Given the description of an element on the screen output the (x, y) to click on. 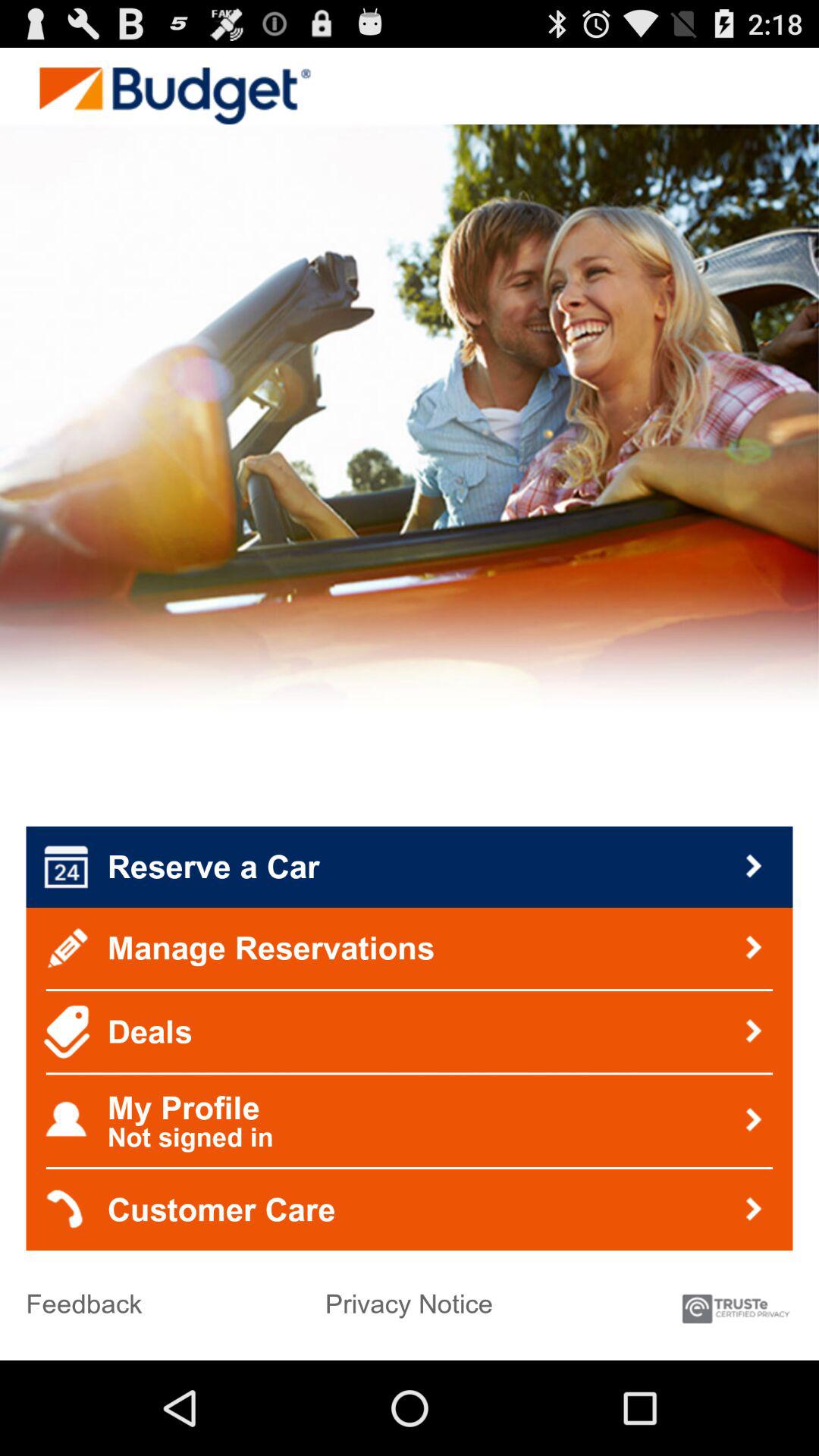
press icon to the right of feedback icon (409, 1297)
